Given the description of an element on the screen output the (x, y) to click on. 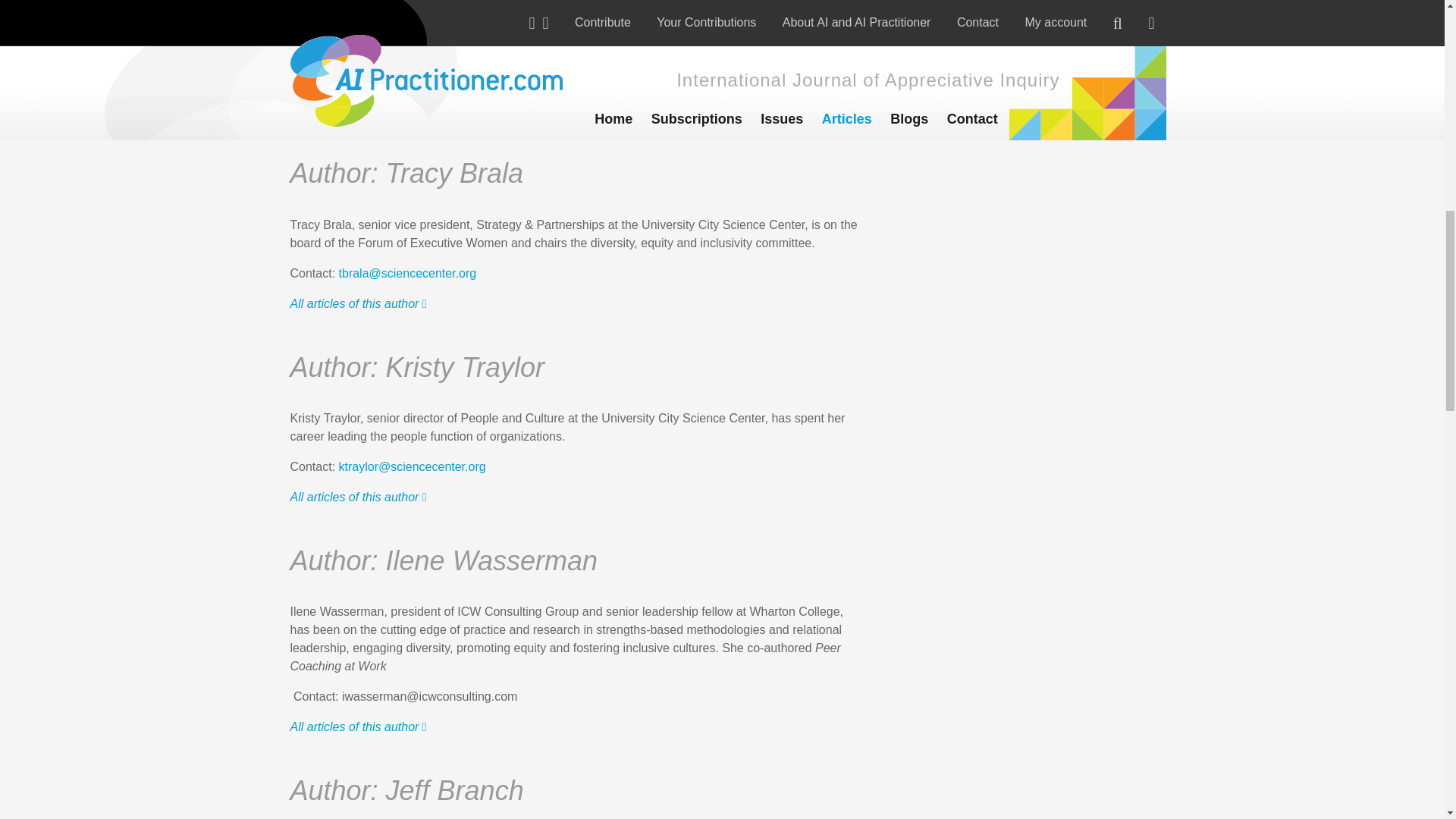
GBP (699, 9)
Ilene Wasserman (994, 598)
USD (658, 9)
Tracy Brala (994, 210)
Kristy Traylor (994, 404)
EUR (616, 9)
Jeff Branch (994, 795)
